Given the description of an element on the screen output the (x, y) to click on. 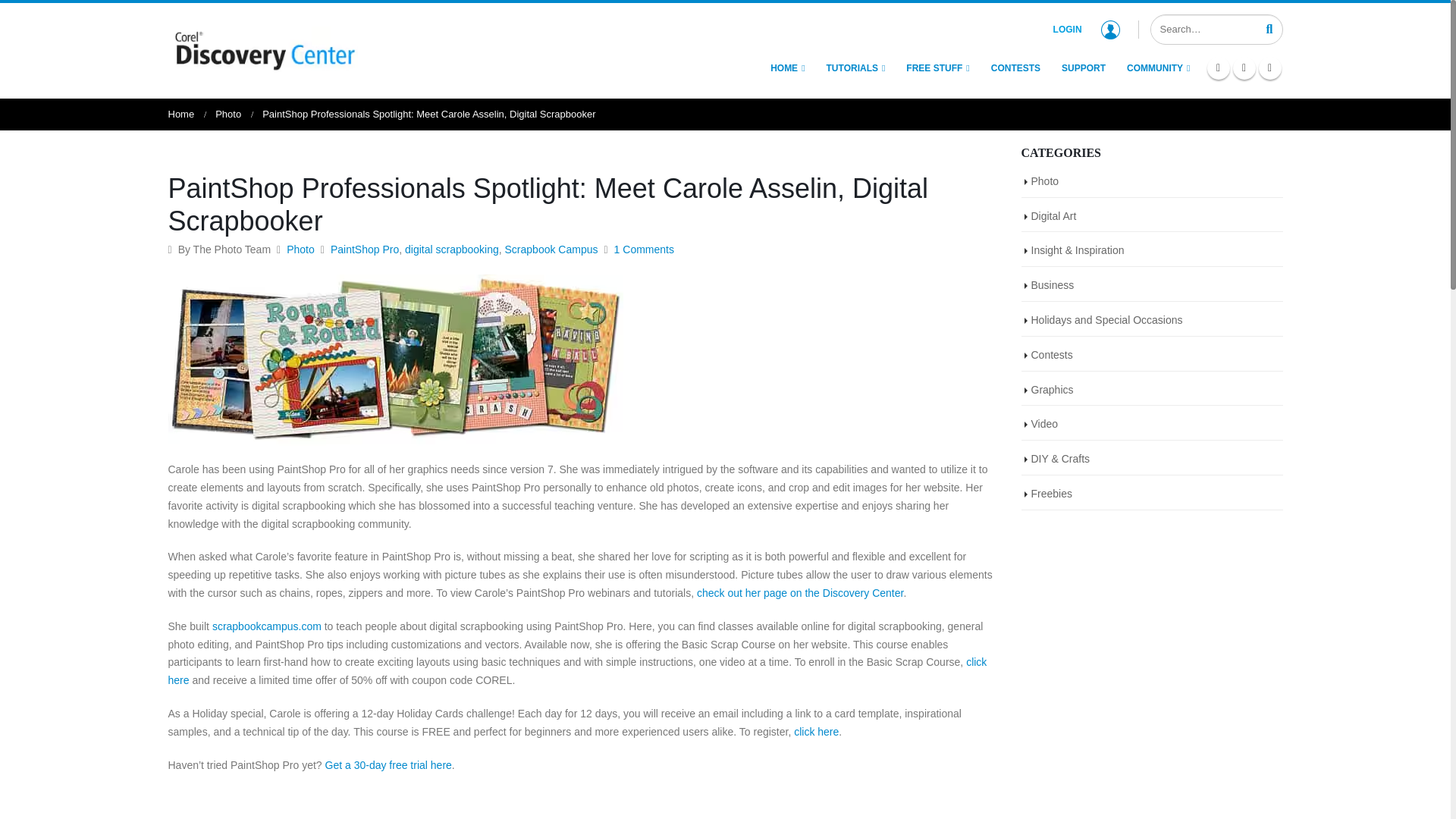
Corel Discovery Center (263, 49)
CONTESTS (1015, 68)
SUPPORT (1083, 68)
Search (1269, 27)
COMMUNITY (1157, 68)
TUTORIALS (855, 68)
LOGIN (1085, 29)
Go to Home Page (181, 113)
HOME (786, 68)
FREE STUFF (937, 68)
